Given the description of an element on the screen output the (x, y) to click on. 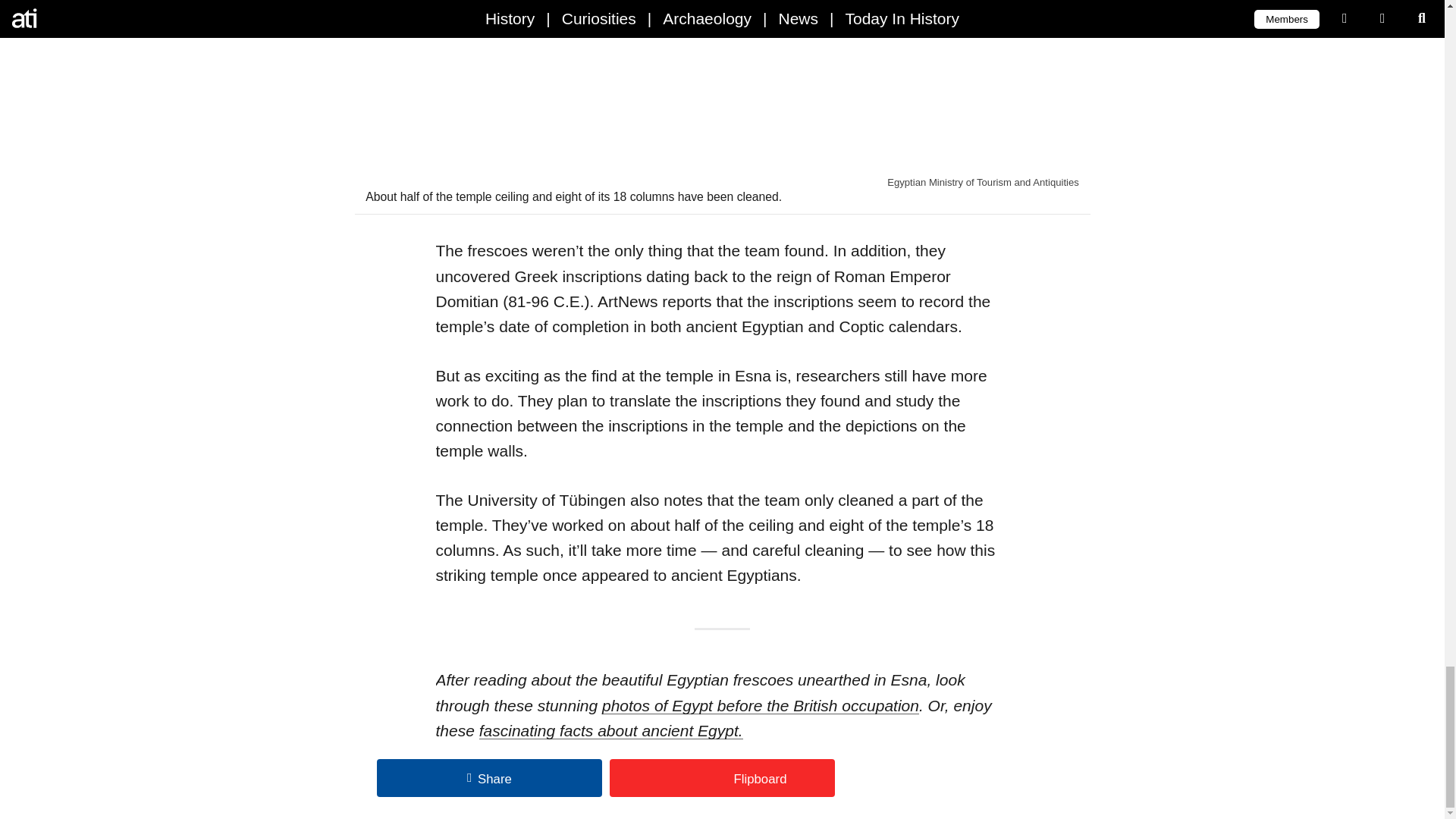
Flipboard (722, 777)
fascinating facts about ancient Egypt. (610, 730)
Share (489, 777)
photos of Egypt before the British occupation (760, 705)
